Given the description of an element on the screen output the (x, y) to click on. 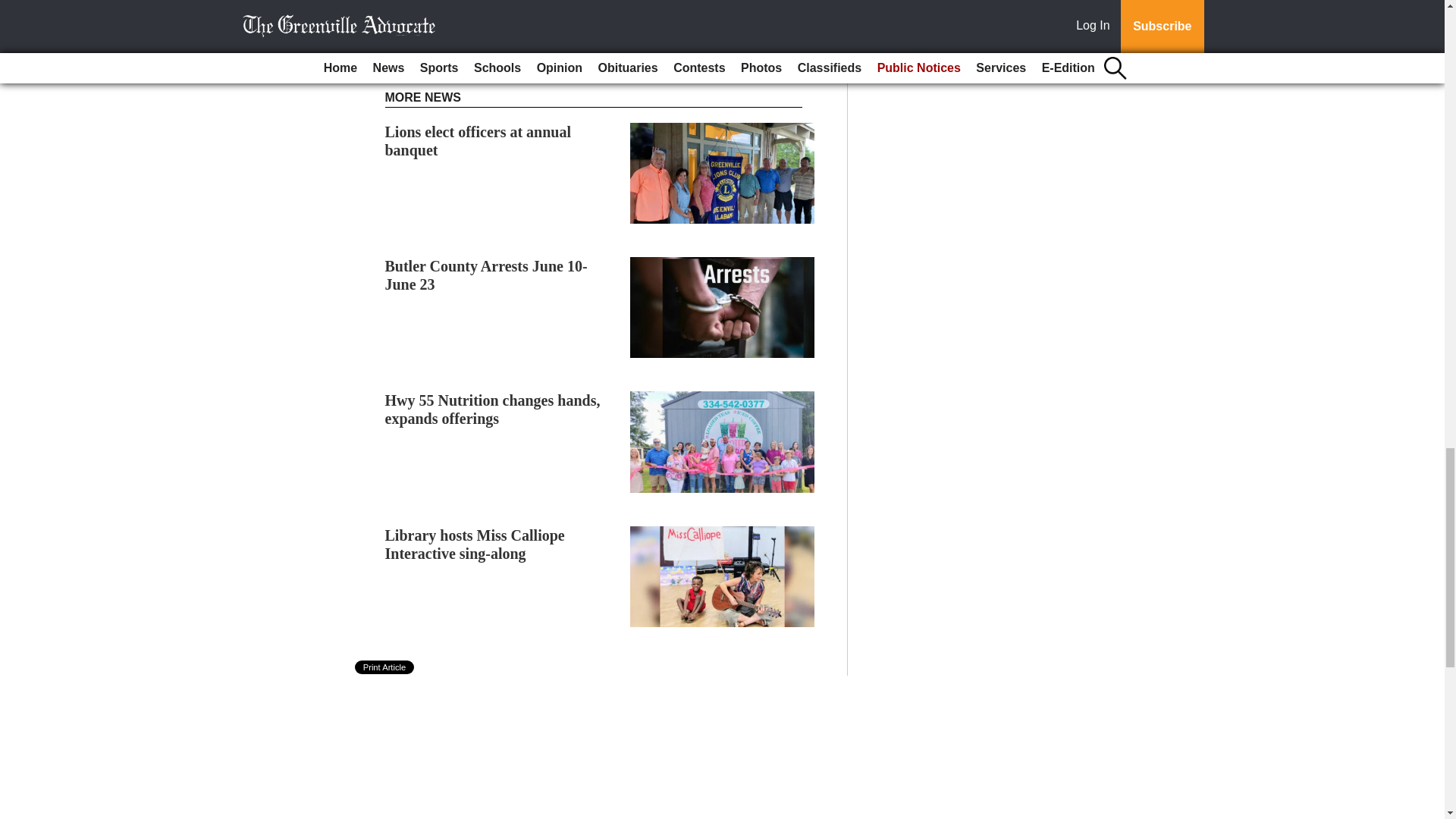
Hwy 55 Nutrition changes hands, expands offerings (492, 409)
Butler County Arrests June 10-June 23 (486, 274)
Lions elect officers at annual banquet (478, 140)
Library hosts Miss Calliope Interactive sing-along (474, 544)
Butler County Arrests June 10-June 23 (486, 274)
Library hosts Miss Calliope Interactive sing-along (474, 544)
Lions elect officers at annual banquet (478, 140)
Print Article (384, 667)
Hwy 55 Nutrition changes hands, expands offerings (492, 409)
